Given the description of an element on the screen output the (x, y) to click on. 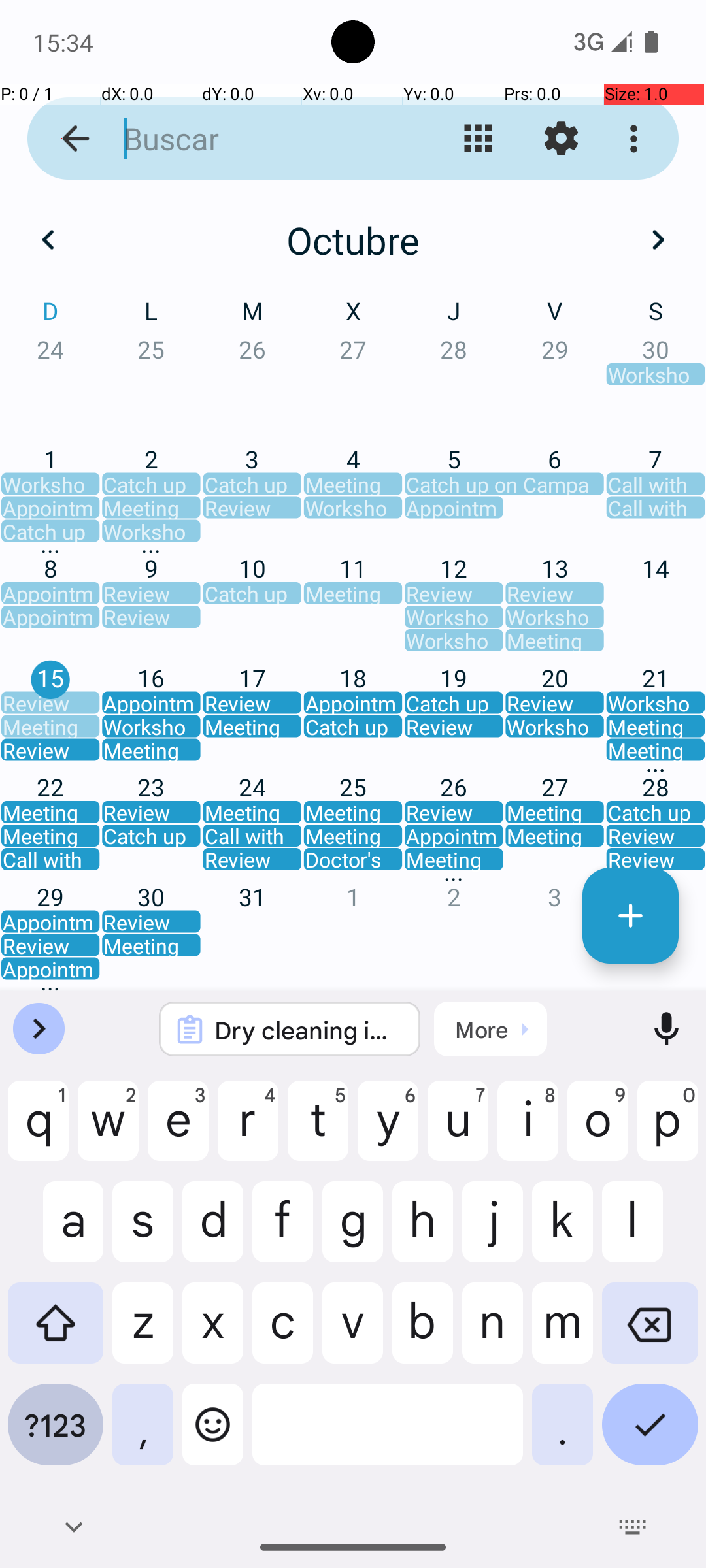
Dry cleaning is ready for pick-up. Element type: android.widget.TextView (306, 1029)
